Given the description of an element on the screen output the (x, y) to click on. 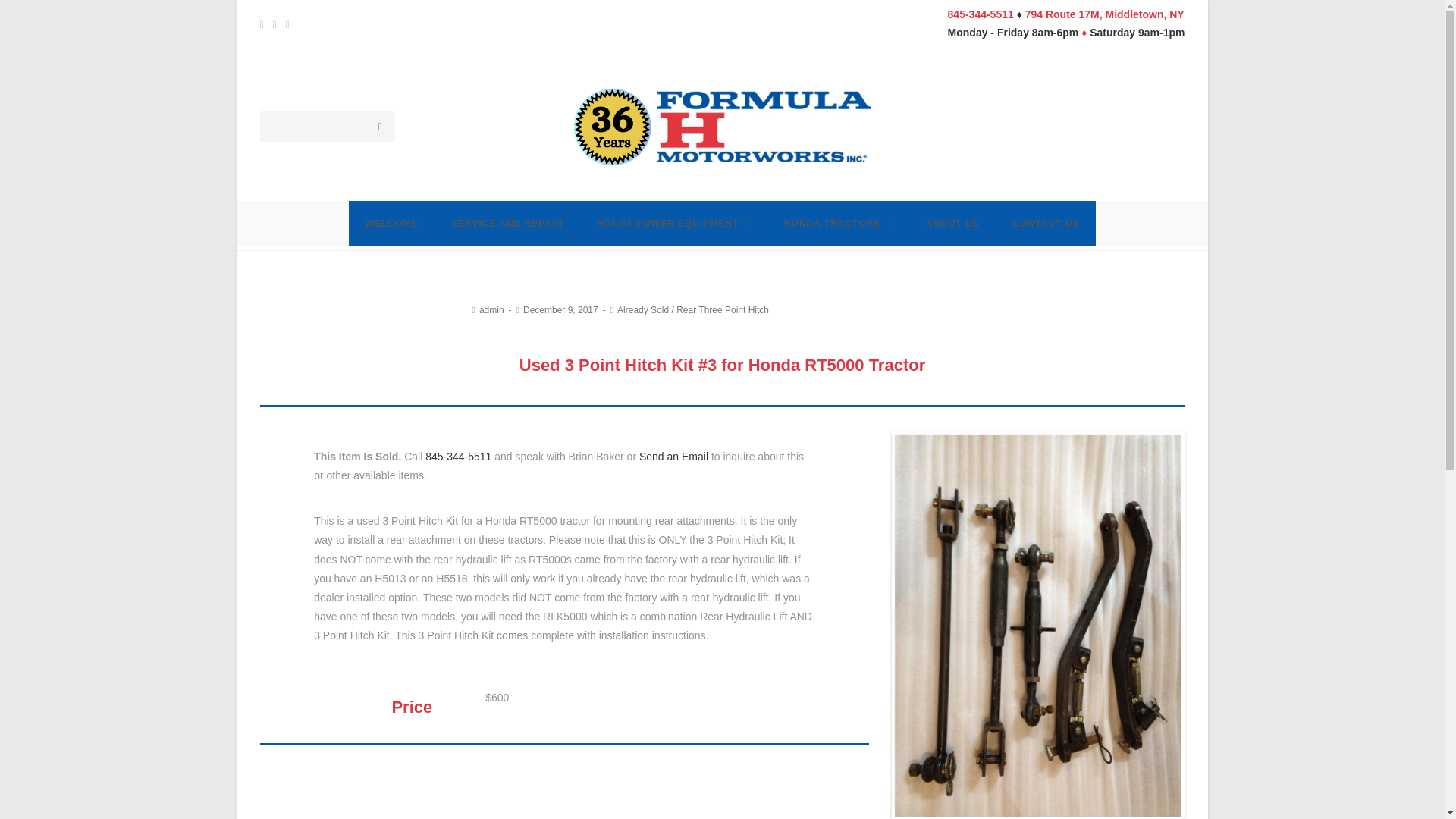
HONDA POWER EQUIPMENT (673, 223)
HONDA TRACTORS (837, 223)
794 Route 17M, Middletown, NY (1105, 14)
SERVICE AND REPAIR (506, 223)
CONTACT US (1045, 223)
ABOUT US (951, 223)
845-344-5511 (980, 14)
WELCOME (392, 223)
Posts by admin (491, 309)
